Given the description of an element on the screen output the (x, y) to click on. 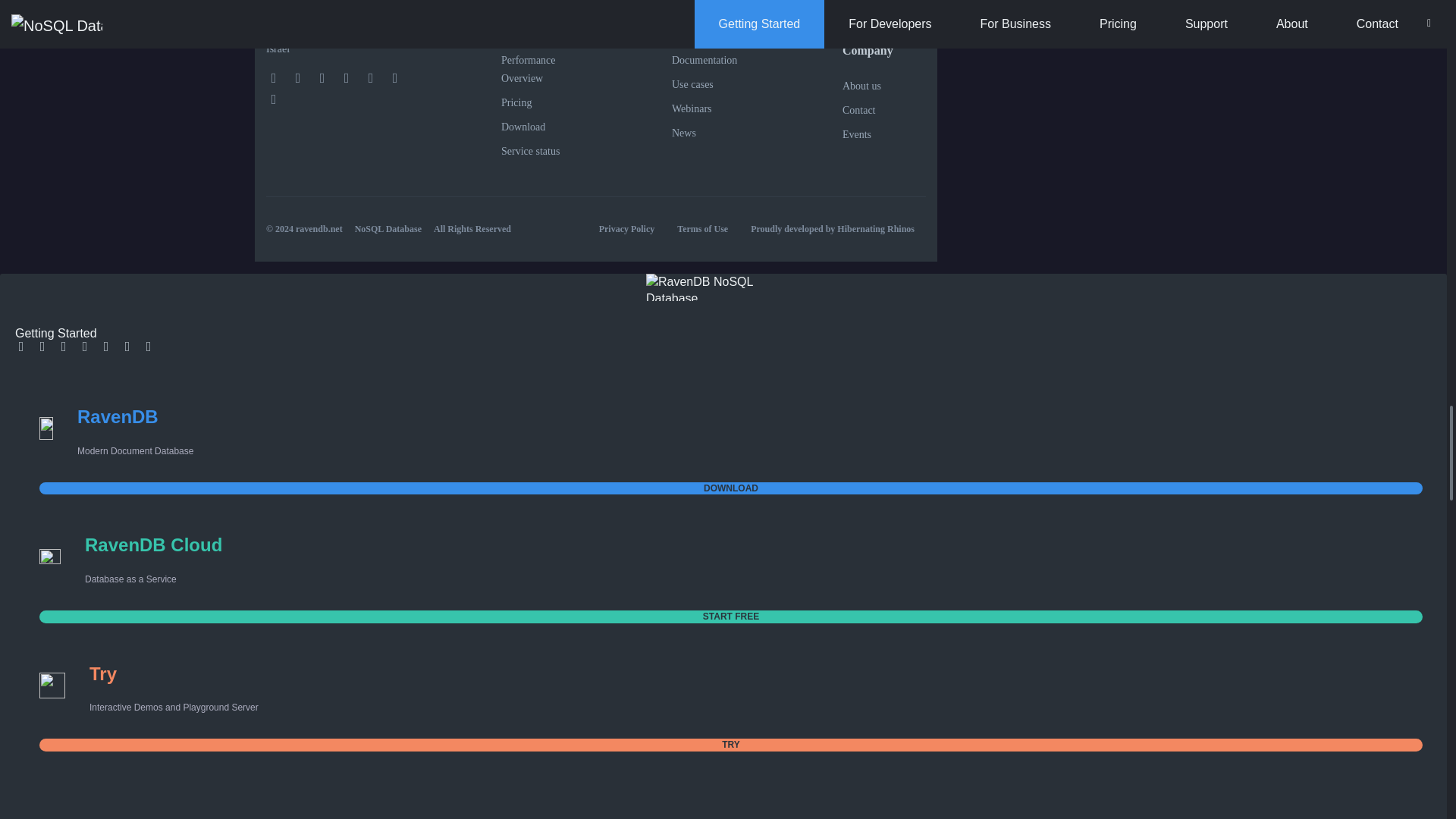
LinkedIn (322, 77)
Github (273, 98)
Youtube (106, 346)
StackOverflow (346, 77)
Facebook (273, 77)
Facebook (20, 346)
Instagram (126, 346)
StackOverflow (84, 346)
Instagram (395, 77)
LinkedIn (63, 346)
Github (148, 346)
Youtube (370, 77)
